Given the description of an element on the screen output the (x, y) to click on. 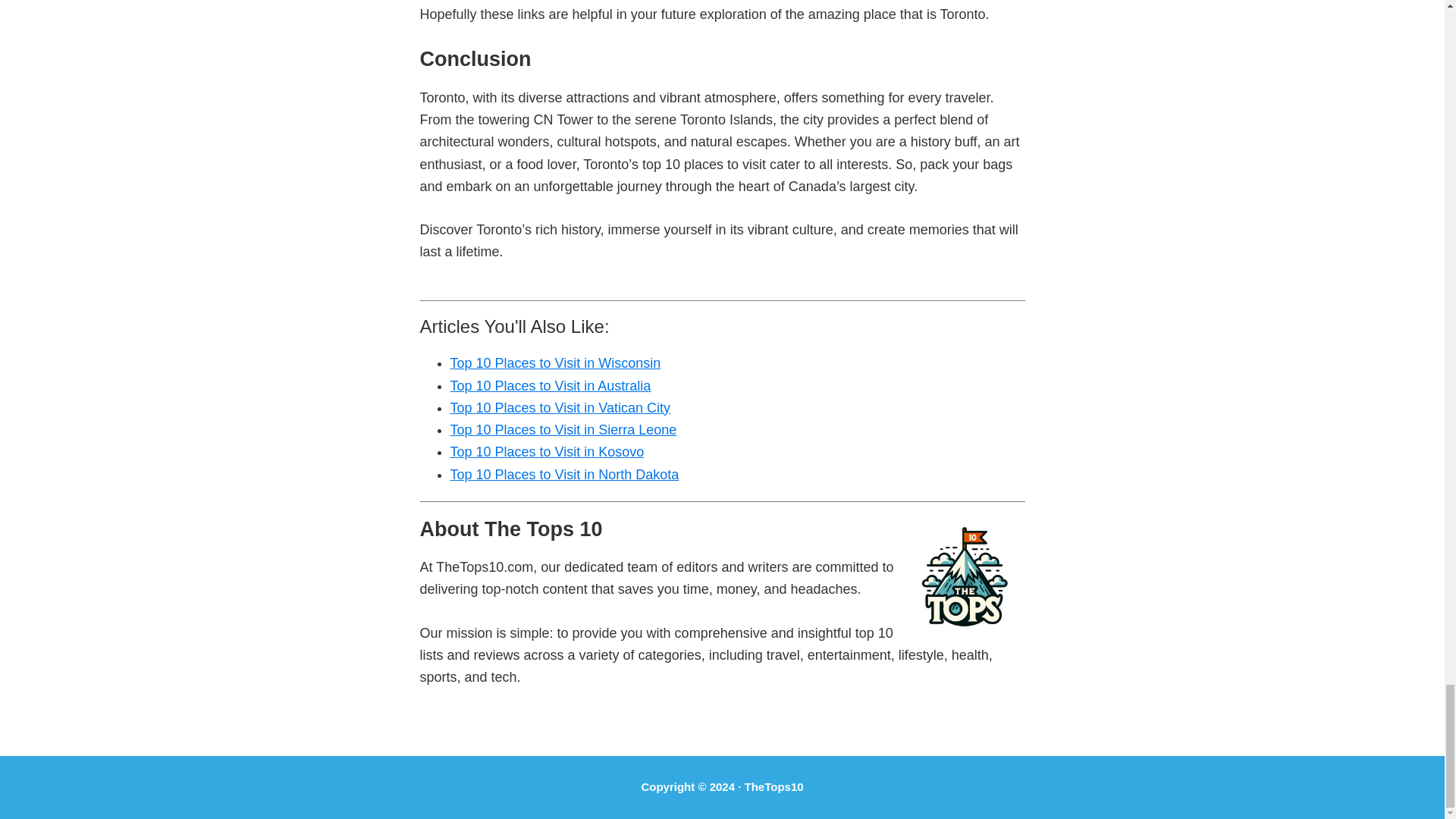
Link to Top 10 Places to Visit in Australia (549, 385)
Top 10 Places to Visit in Kosovo (547, 451)
Top 10 Places to Visit in Vatican City (559, 407)
Link to Top 10 Places to Visit in North Dakota (564, 474)
Link to Top 10 Places to Visit in Sierra Leone (563, 429)
Link to Top 10 Places to Visit in Wisconsin (555, 363)
Top 10 Places to Visit in North Dakota (564, 474)
Top 10 Places to Visit in Sierra Leone (563, 429)
Top 10 Places to Visit in Wisconsin (555, 363)
Top 10 Places to Visit in Australia (549, 385)
Link to Top 10 Places to Visit in Vatican City (559, 407)
Link to Top 10 Places to Visit in Kosovo (547, 451)
